Given the description of an element on the screen output the (x, y) to click on. 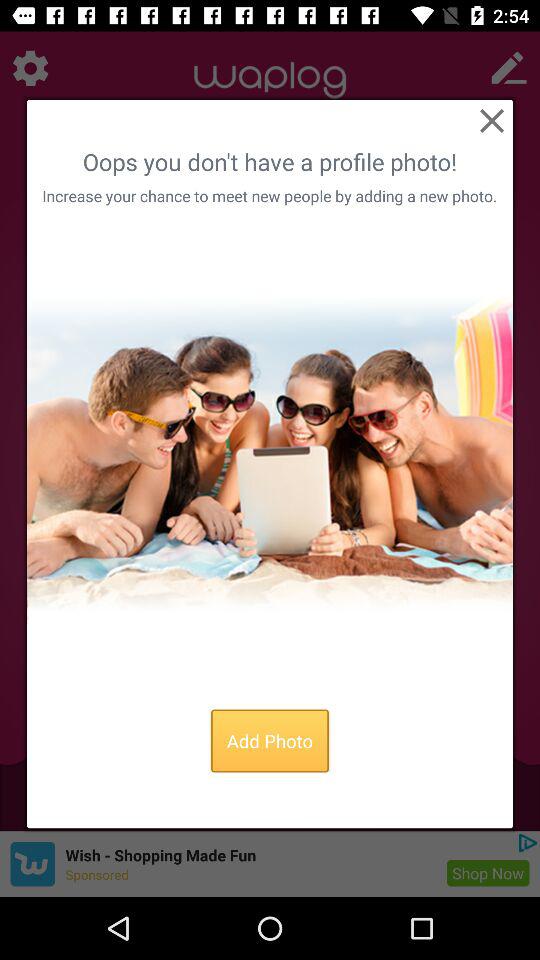
open the icon at the top right corner (491, 120)
